Given the description of an element on the screen output the (x, y) to click on. 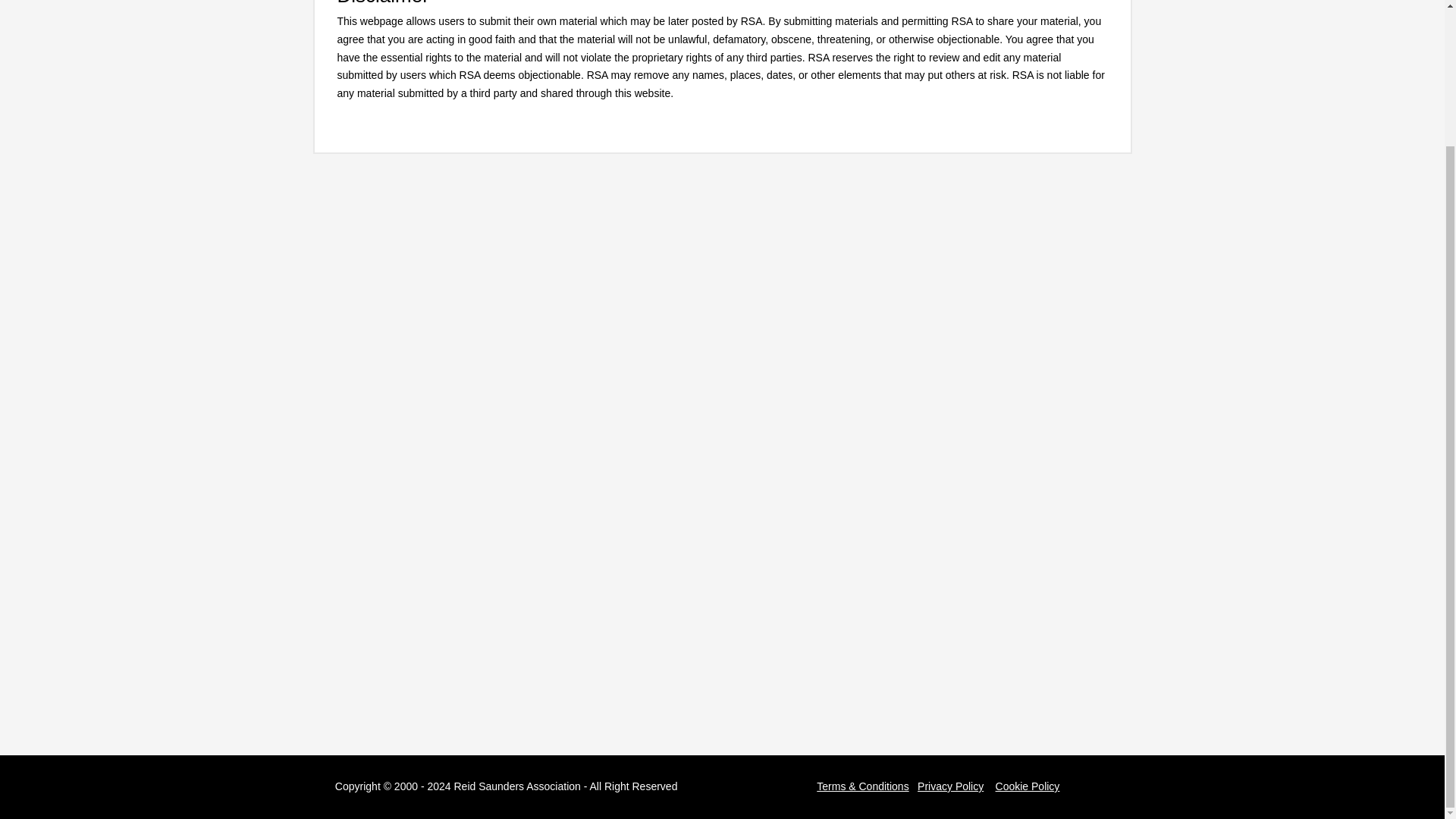
Cookie Policy (1027, 786)
Cookie Policy (1027, 786)
Privacy Policy (950, 786)
Privacy Policy (950, 786)
